Given the description of an element on the screen output the (x, y) to click on. 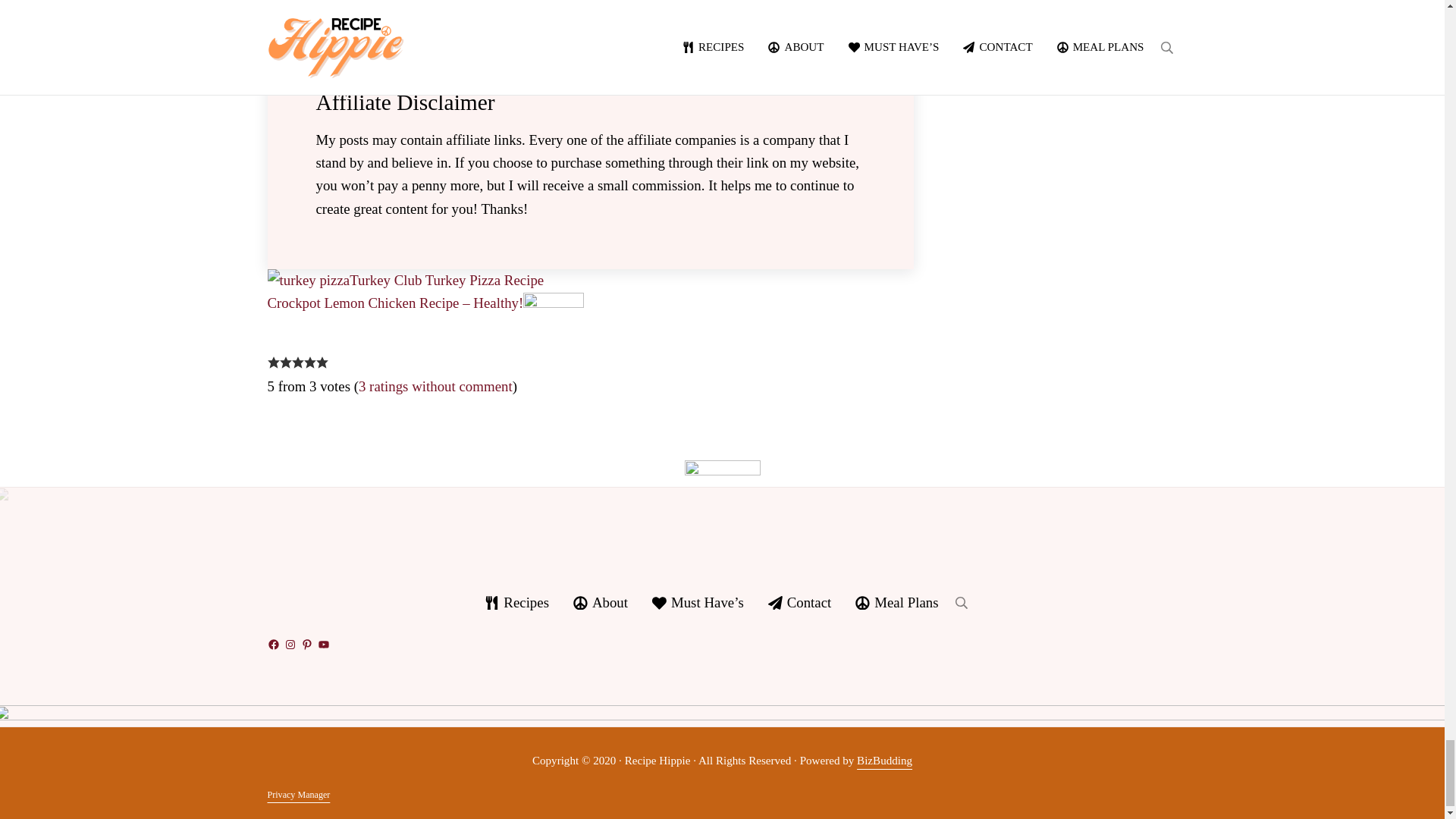
Share on Twitter (303, 12)
Share on Pinterest (327, 12)
Share on Facebook (278, 12)
